Given the description of an element on the screen output the (x, y) to click on. 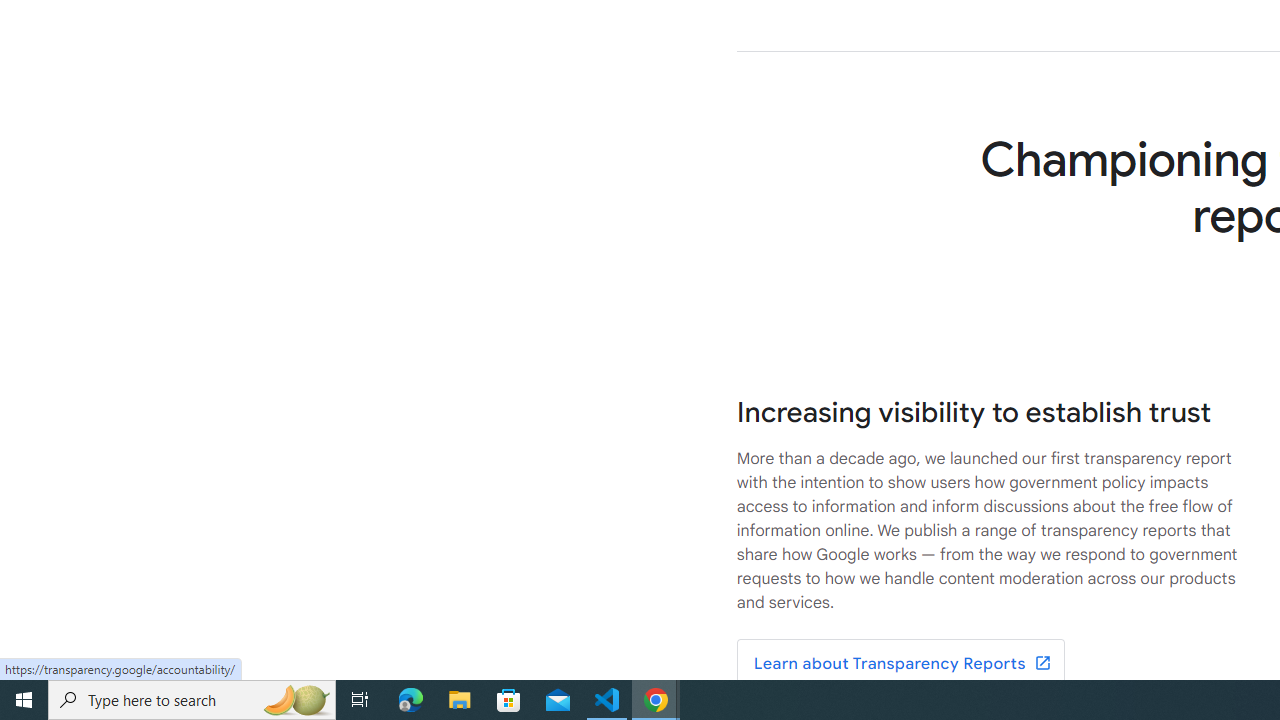
Go to Transparency Report About web page (900, 664)
